Given the description of an element on the screen output the (x, y) to click on. 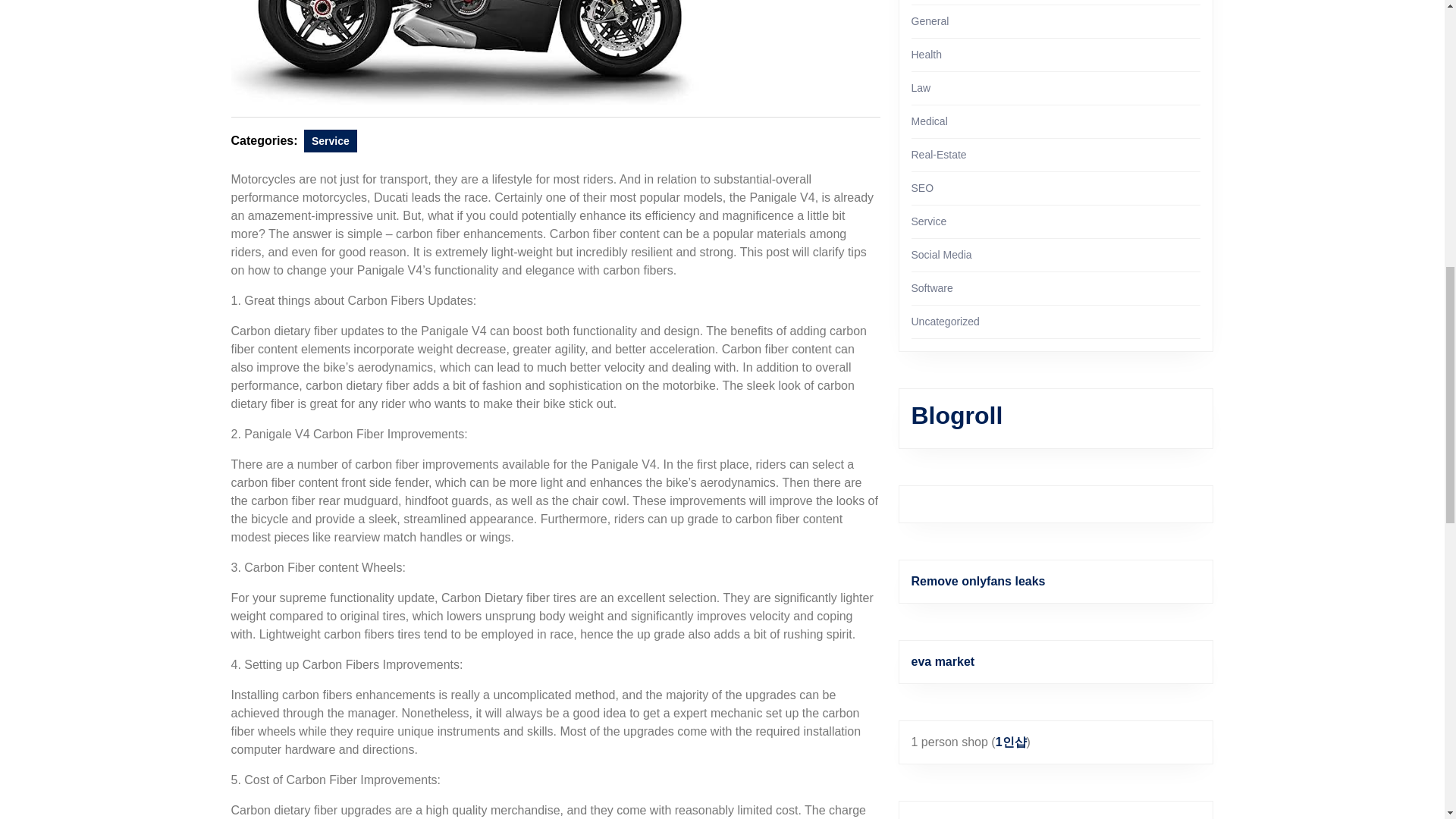
Service (330, 140)
